Given the description of an element on the screen output the (x, y) to click on. 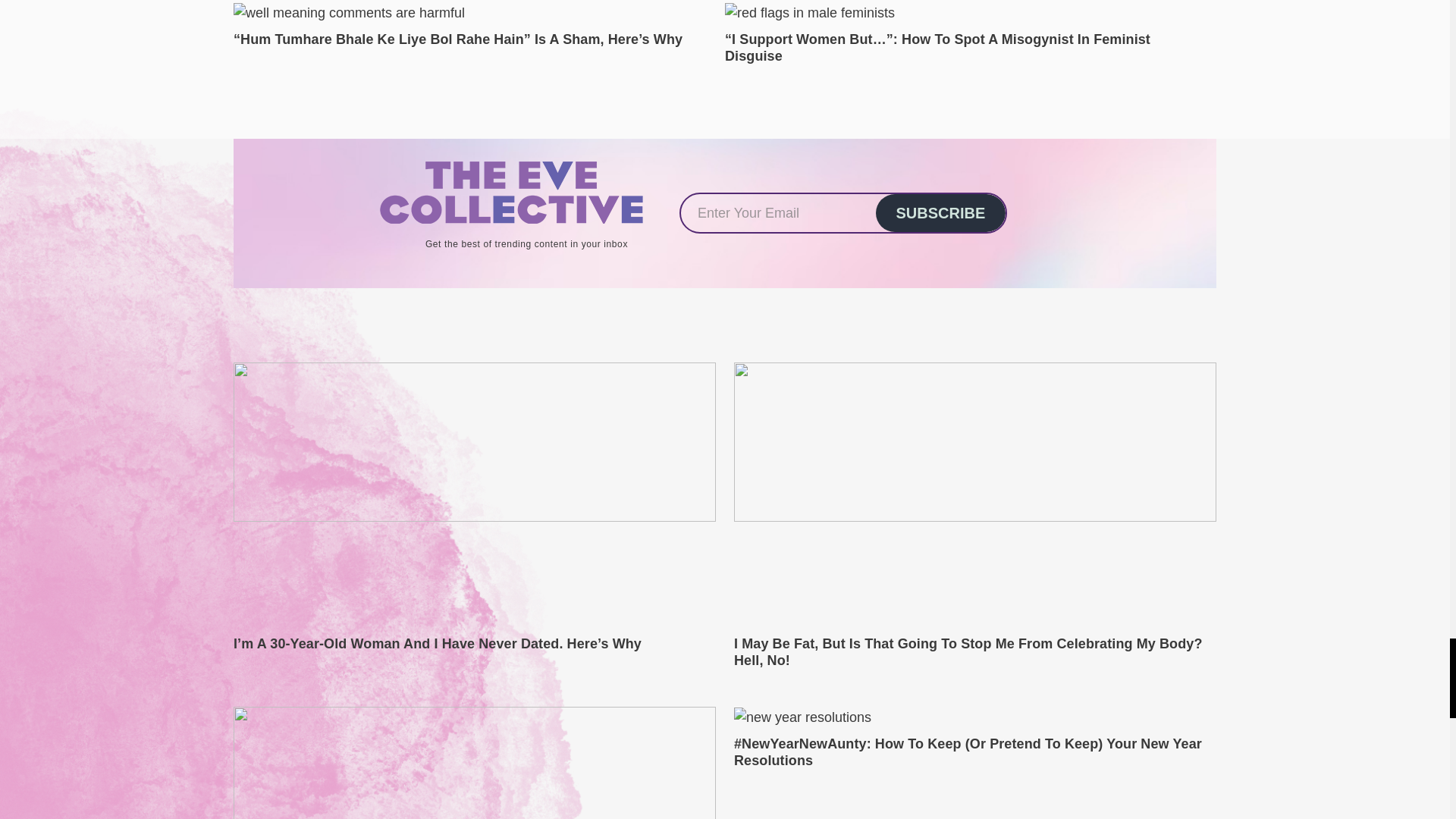
Subscribe (941, 212)
